Given the description of an element on the screen output the (x, y) to click on. 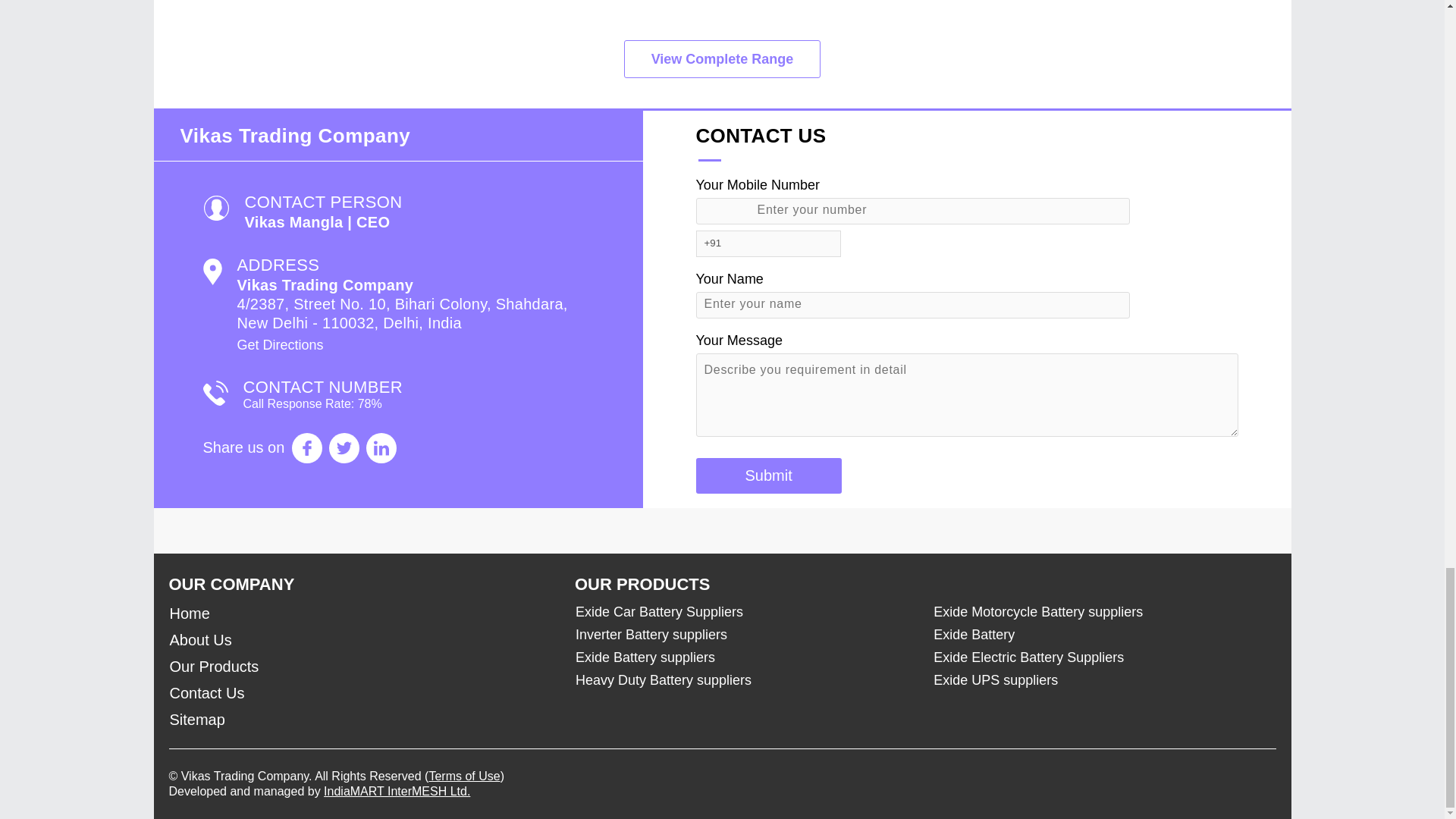
Submit (768, 475)
